Given the description of an element on the screen output the (x, y) to click on. 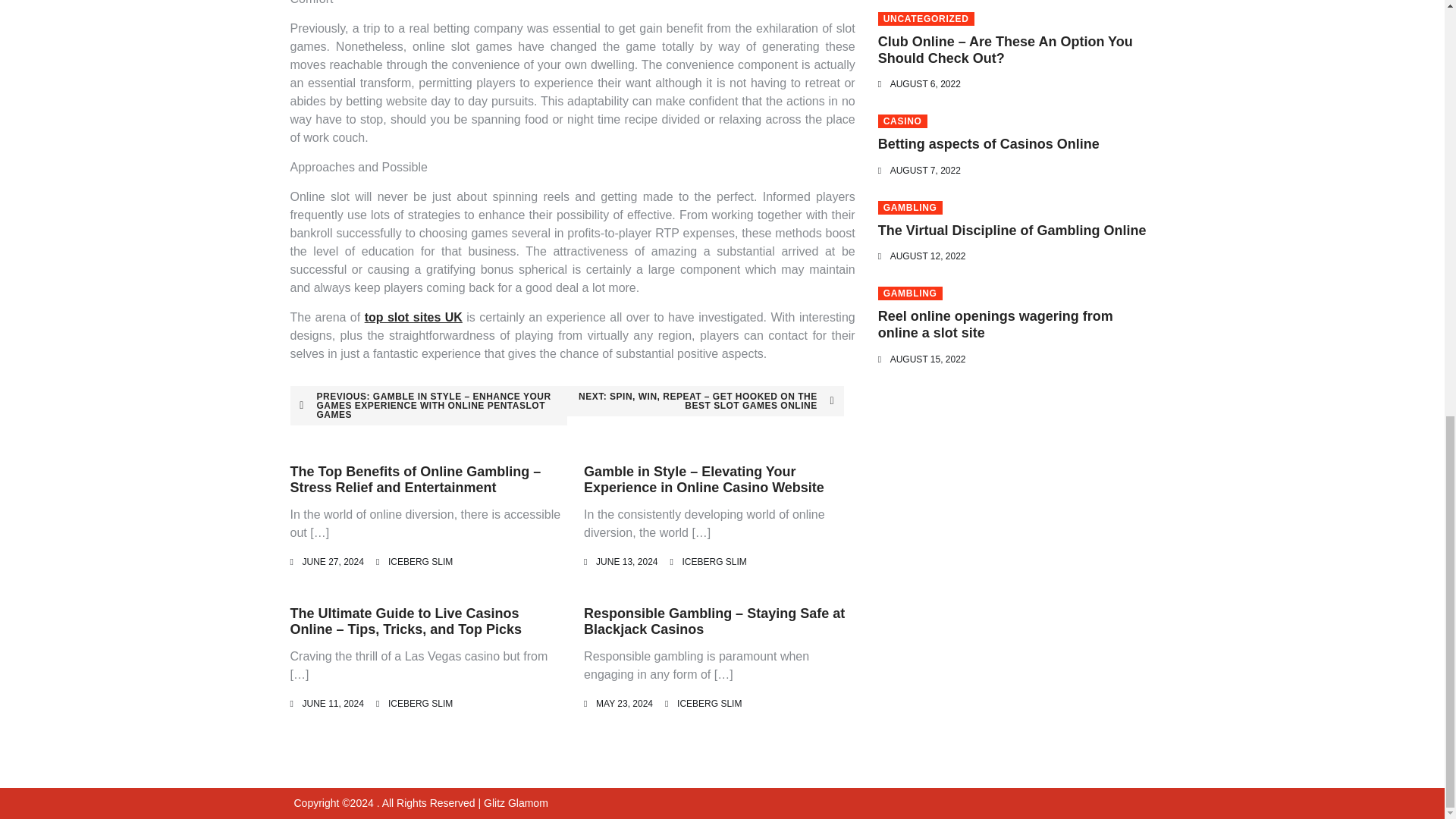
JUNE 27, 2024 (331, 561)
UNCATEGORIZED (925, 18)
ICEBERG SLIM (420, 703)
MAY 23, 2024 (623, 703)
JUNE 11, 2024 (331, 703)
ICEBERG SLIM (709, 703)
top slot sites UK (414, 317)
ICEBERG SLIM (420, 561)
AUGUST 6, 2022 (924, 83)
JUNE 13, 2024 (626, 561)
ICEBERG SLIM (713, 561)
